Given the description of an element on the screen output the (x, y) to click on. 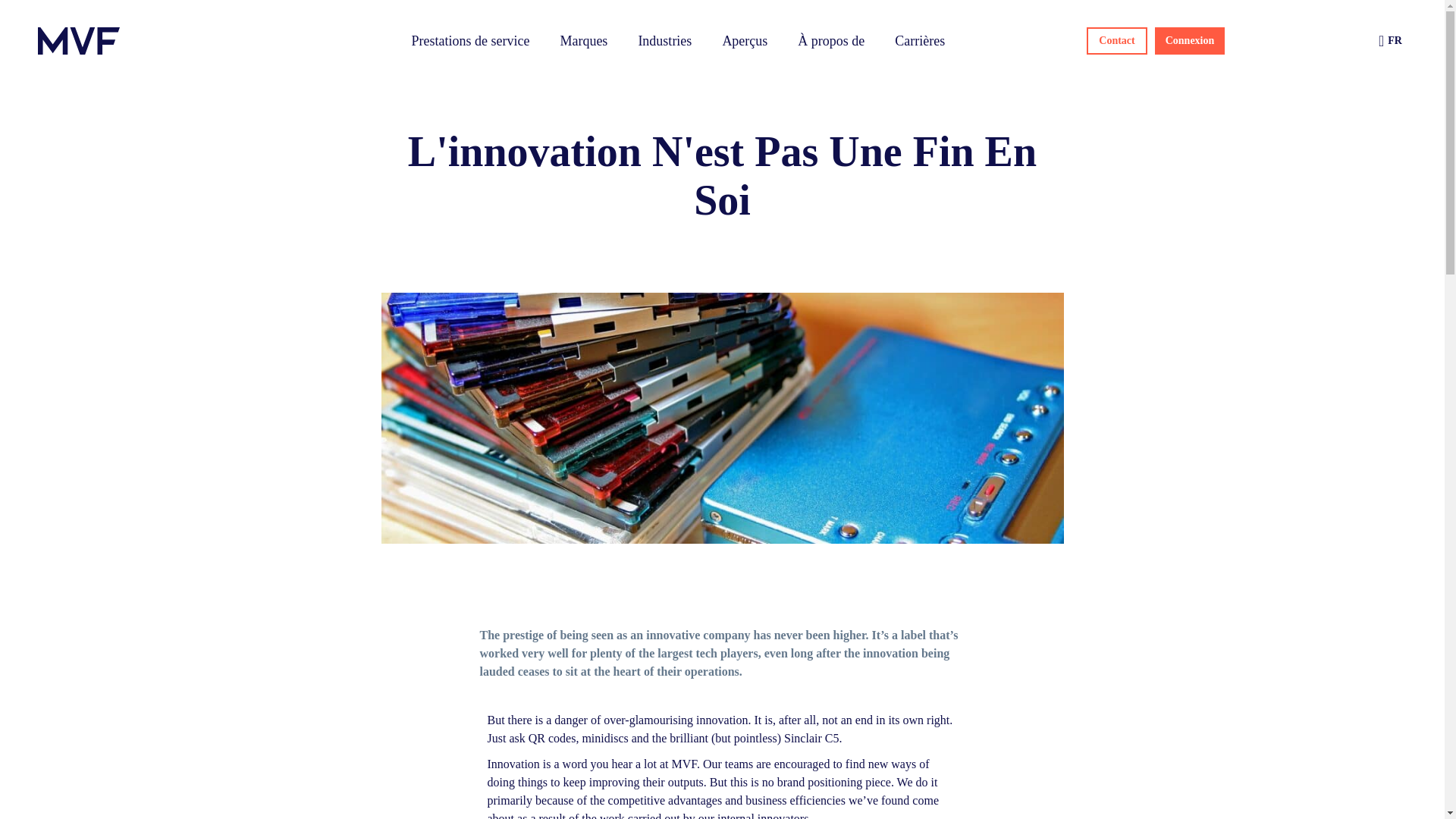
Prestations de service (470, 40)
Marques (583, 40)
Industries (664, 40)
Contact (1116, 40)
Connexion (1189, 40)
